Given the description of an element on the screen output the (x, y) to click on. 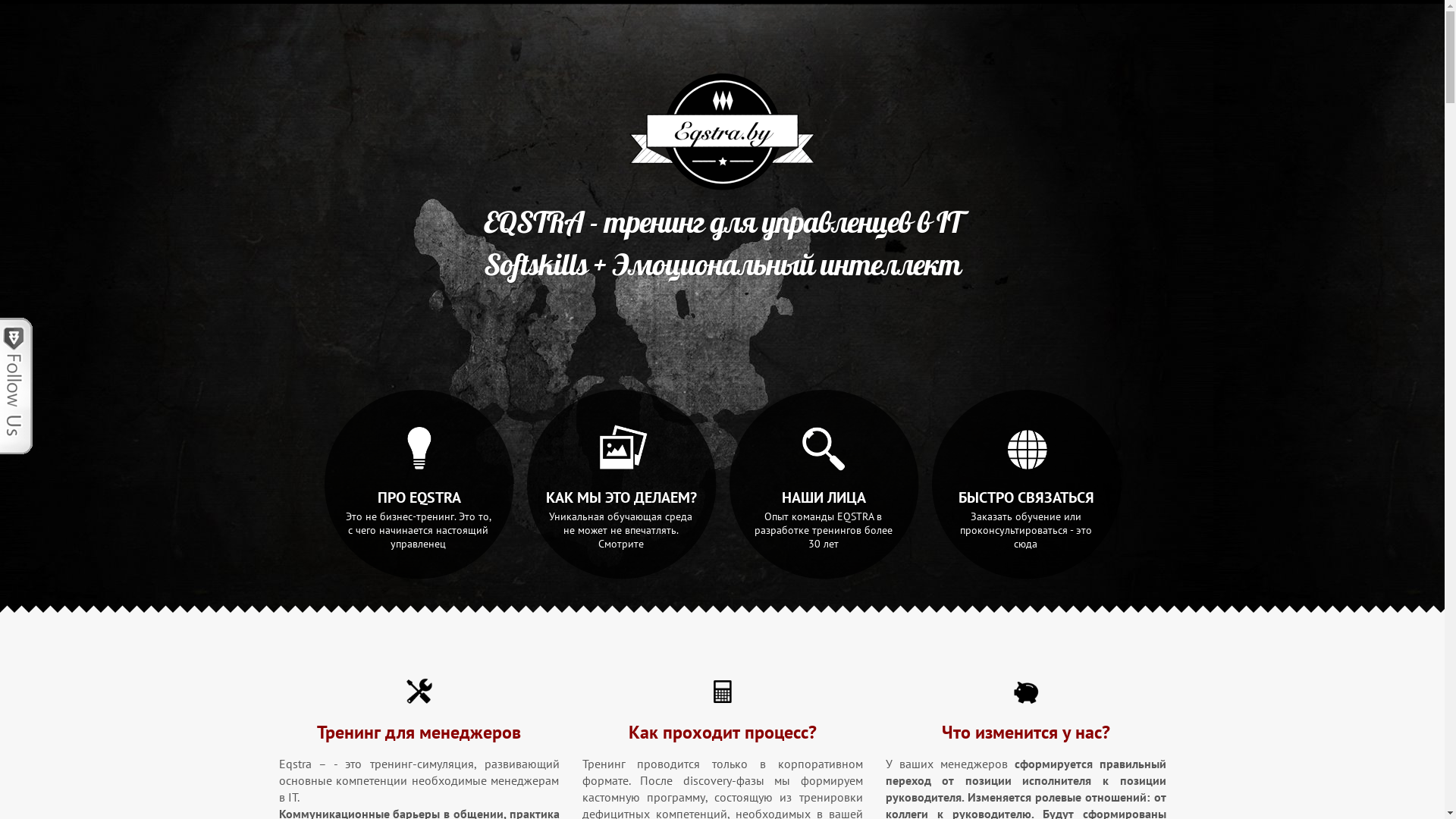
EQSTRA Element type: hover (722, 131)
Icon Element type: hover (721, 691)
Icon Element type: hover (418, 691)
Icon Element type: hover (1025, 691)
